Given the description of an element on the screen output the (x, y) to click on. 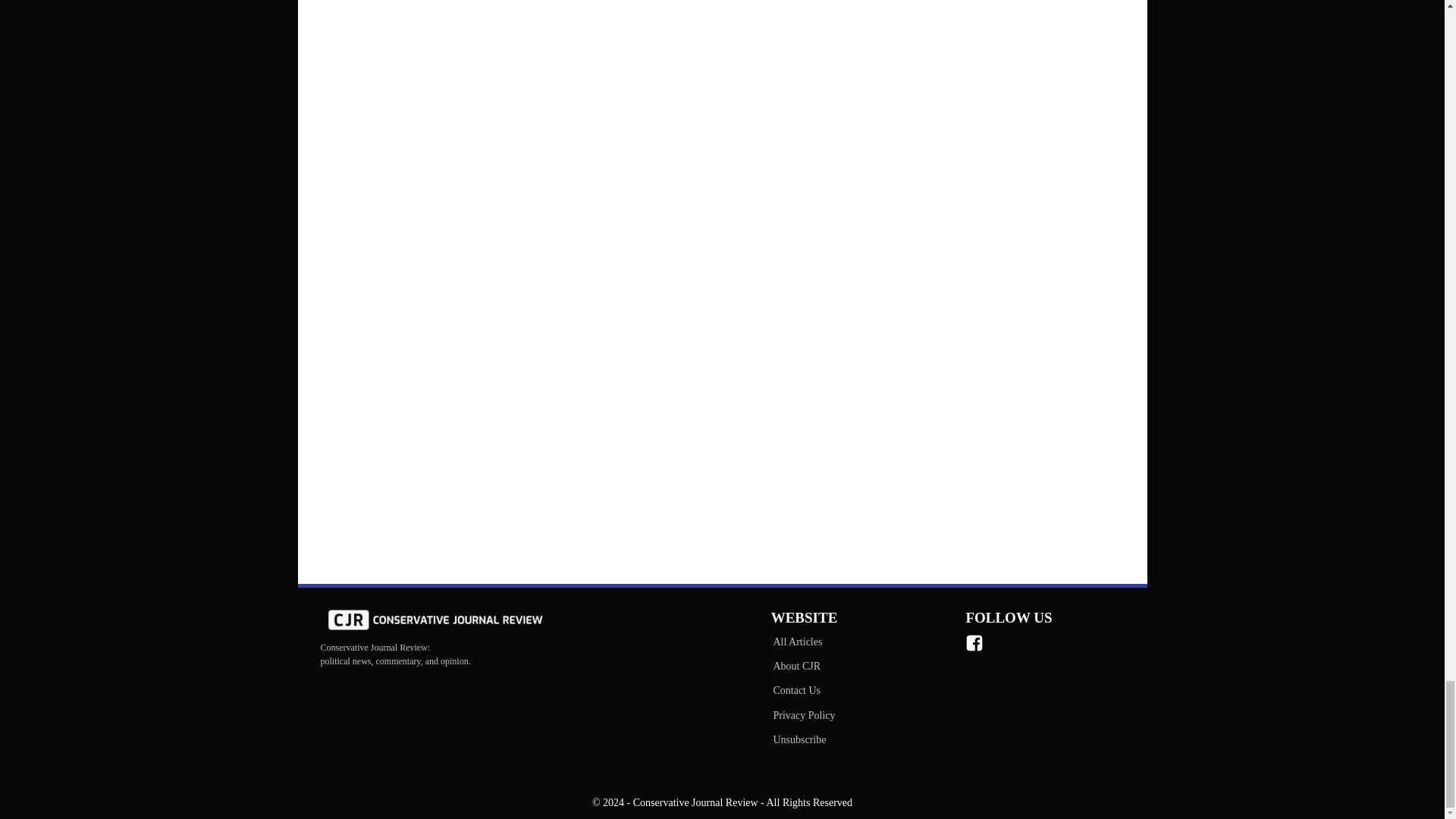
About CJR (803, 666)
Unsubscribe (803, 740)
Privacy Policy (803, 715)
Contact Us (803, 690)
All Articles (803, 641)
